Given the description of an element on the screen output the (x, y) to click on. 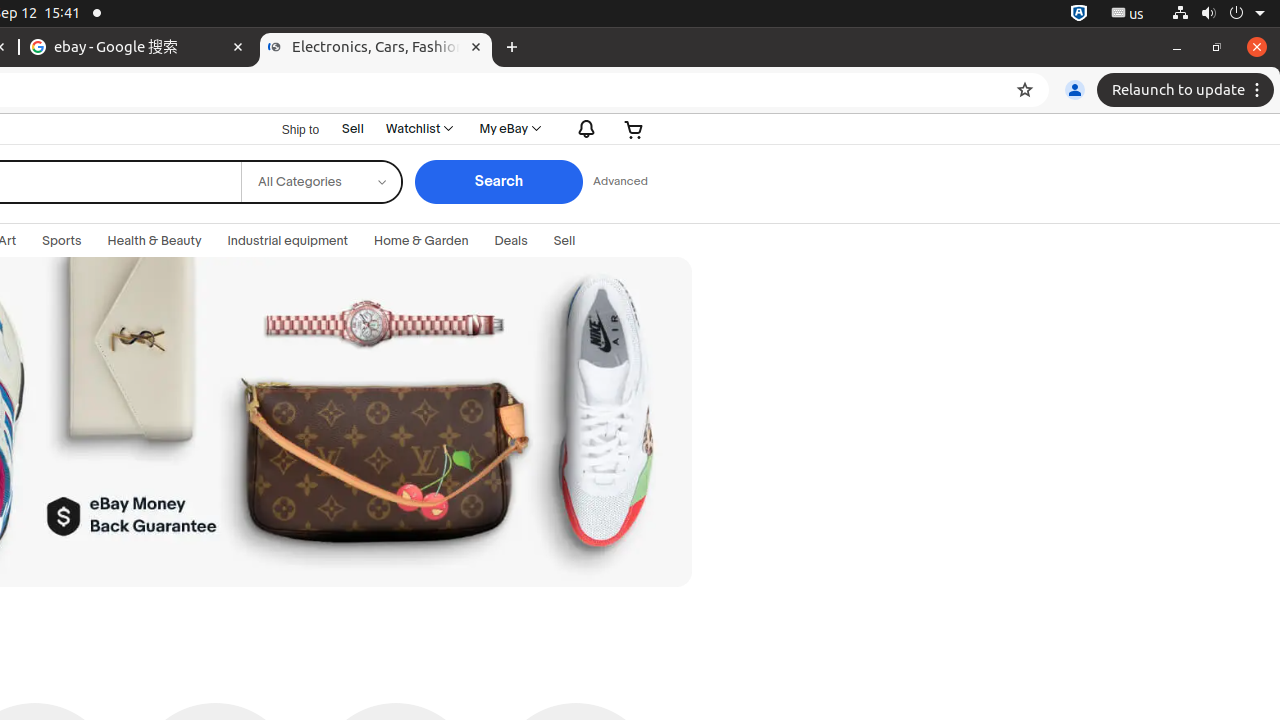
Search Element type: push-button (498, 182)
New Tab Element type: push-button (512, 47)
Relaunch to update Element type: push-button (1188, 90)
Industrial equipment Element type: link (288, 241)
All Categories Element type: menu-item (320, 182)
